Given the description of an element on the screen output the (x, y) to click on. 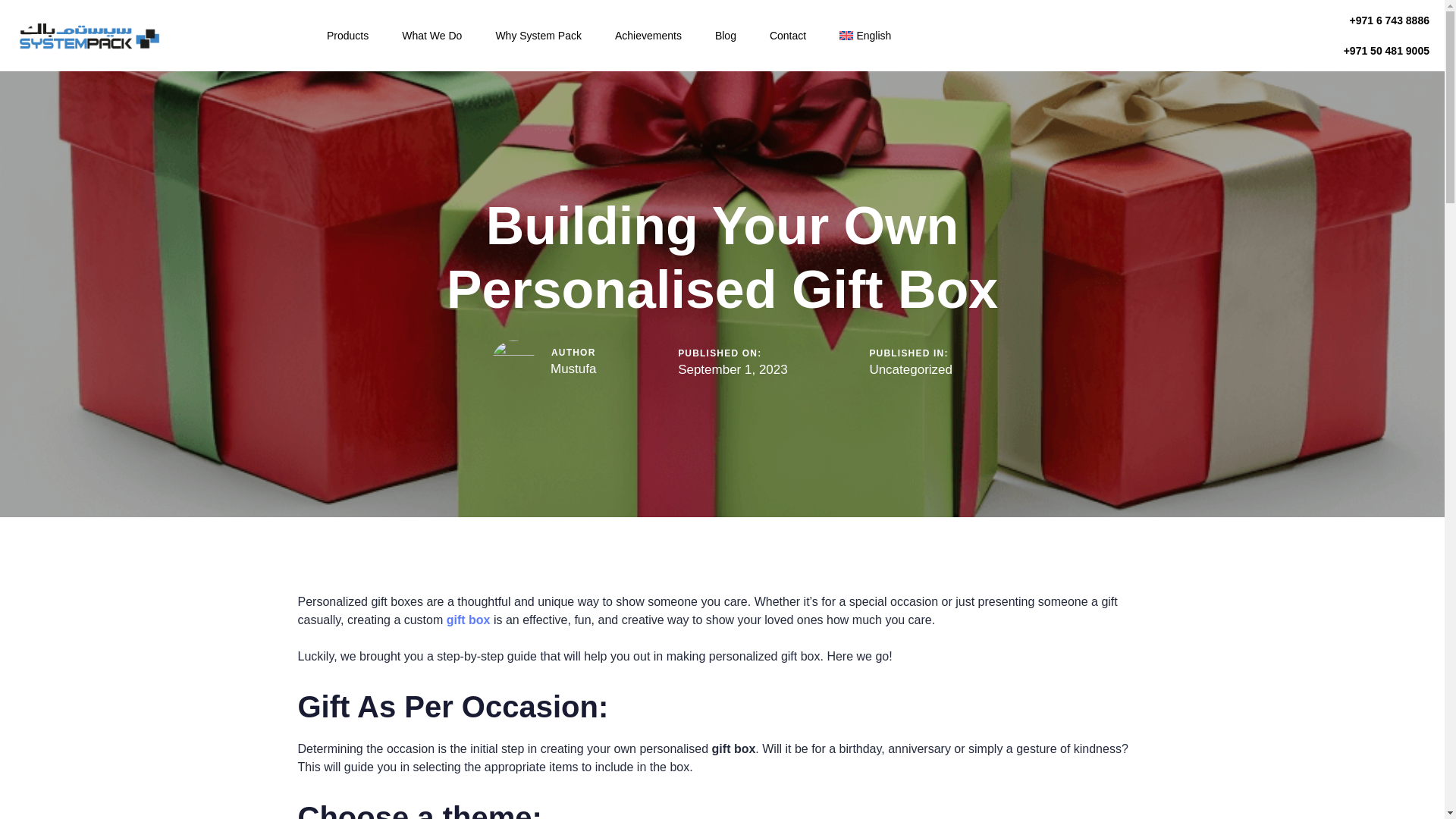
What We Do (432, 35)
English (864, 35)
Why System Pack (538, 35)
Products (347, 35)
English (864, 35)
Posts by Mustufa (572, 368)
Contact (787, 35)
Achievements (648, 35)
